Given the description of an element on the screen output the (x, y) to click on. 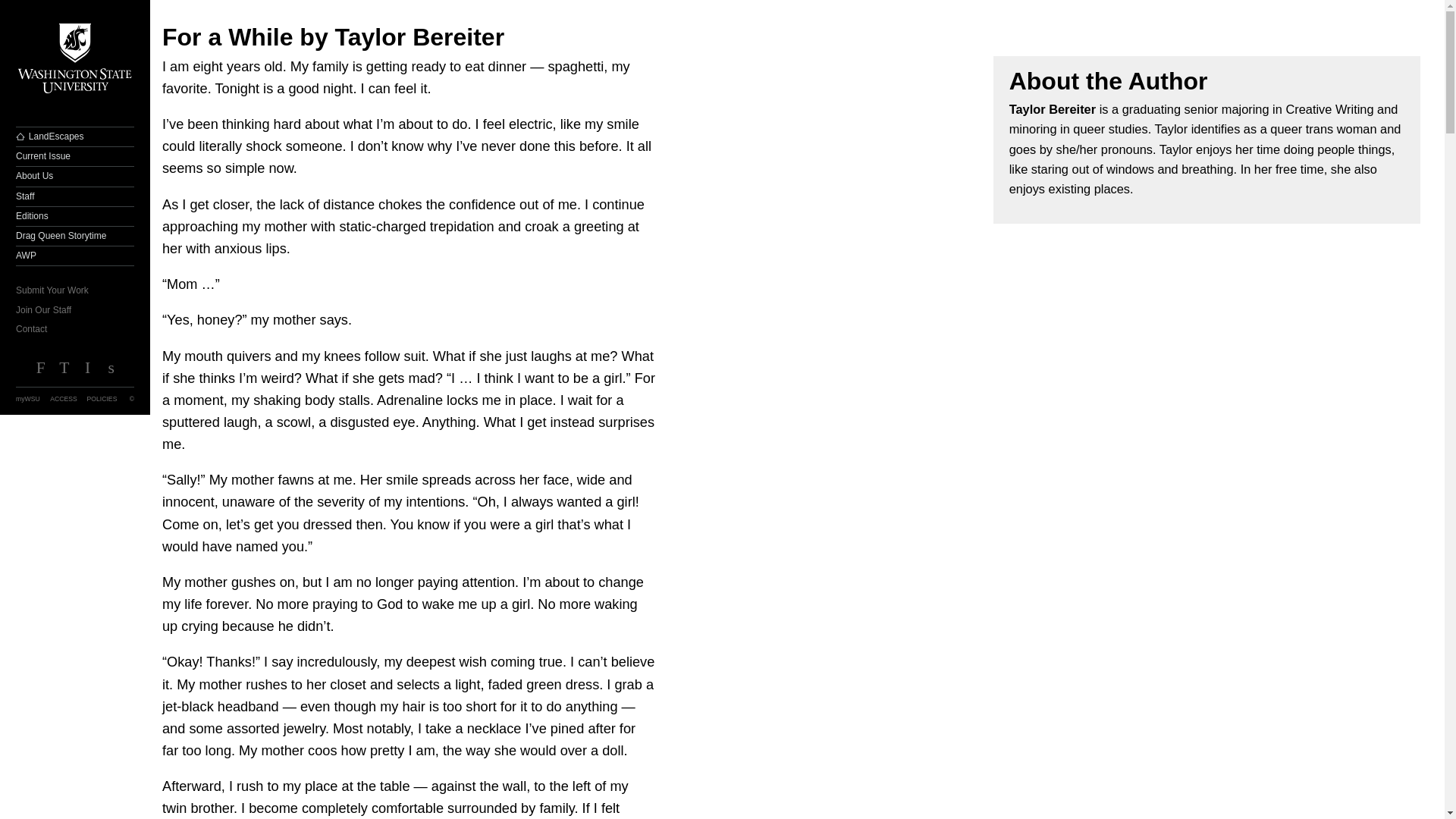
Editions (74, 216)
AWP (74, 255)
Washington State University (74, 58)
Social media at WSU (110, 371)
LandEscapes (74, 136)
ACCESS (67, 399)
About Us (74, 176)
Staff (74, 196)
Drag Queen Storytime (74, 235)
Current Issue (74, 156)
instagram (87, 371)
facebook (39, 371)
Join Our Staff (74, 309)
POLICIES (104, 399)
Submit Your Work (74, 290)
